Given the description of an element on the screen output the (x, y) to click on. 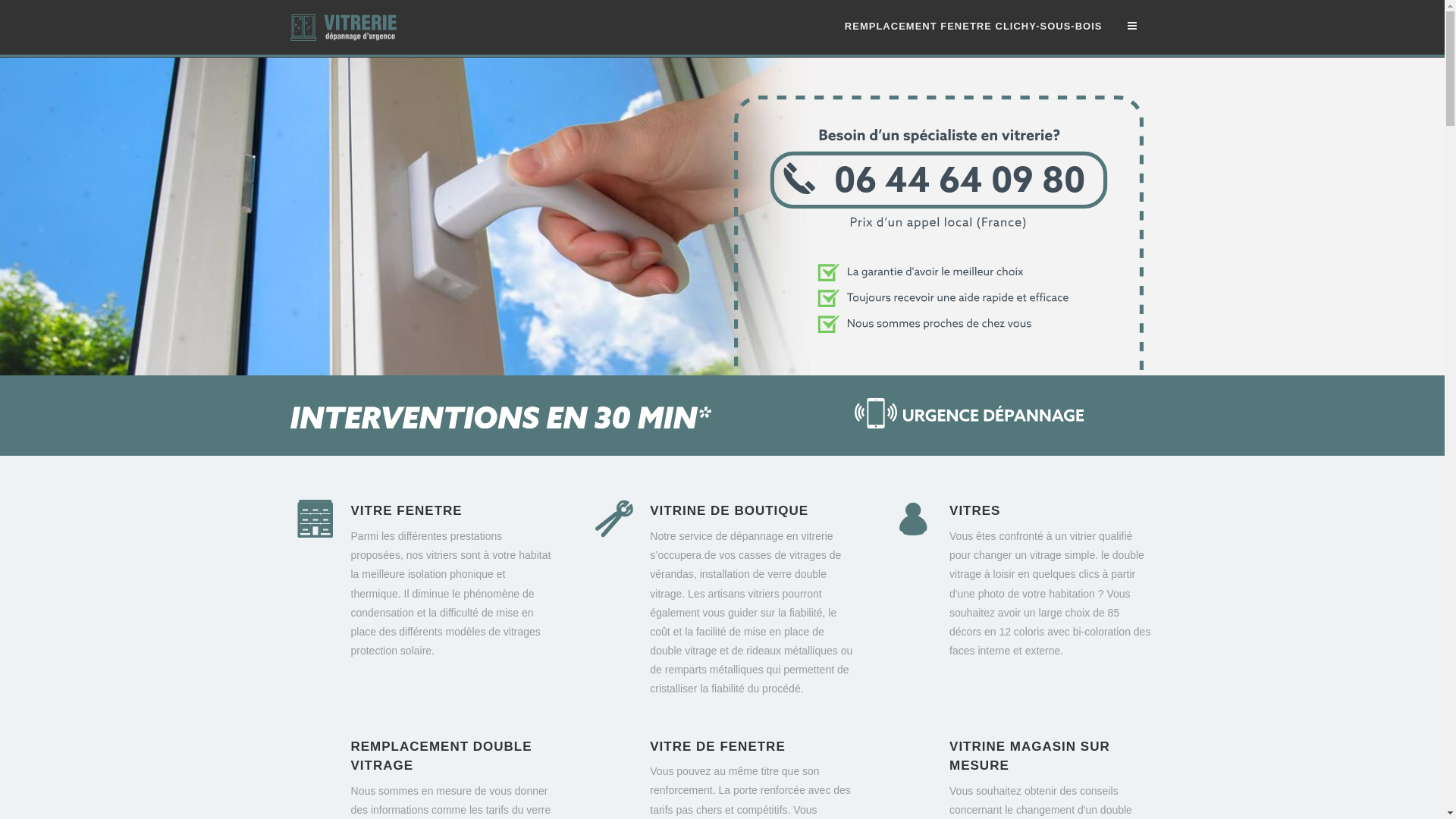
VITRES Element type: text (974, 510)
VITRE FENETRE Element type: text (405, 510)
REMPLACEMENT DOUBLE VITRAGE Element type: text (440, 756)
VITRINE MAGASIN SUR MESURE Element type: text (1029, 756)
VITRE DE FENETRE Element type: text (716, 746)
VITRINE DE BOUTIQUE Element type: text (728, 510)
REMPLACEMENT FENETRE CLICHY-SOUS-BOIS Element type: text (973, 26)
06 44 64 09 80 Element type: text (938, 366)
